Given the description of an element on the screen output the (x, y) to click on. 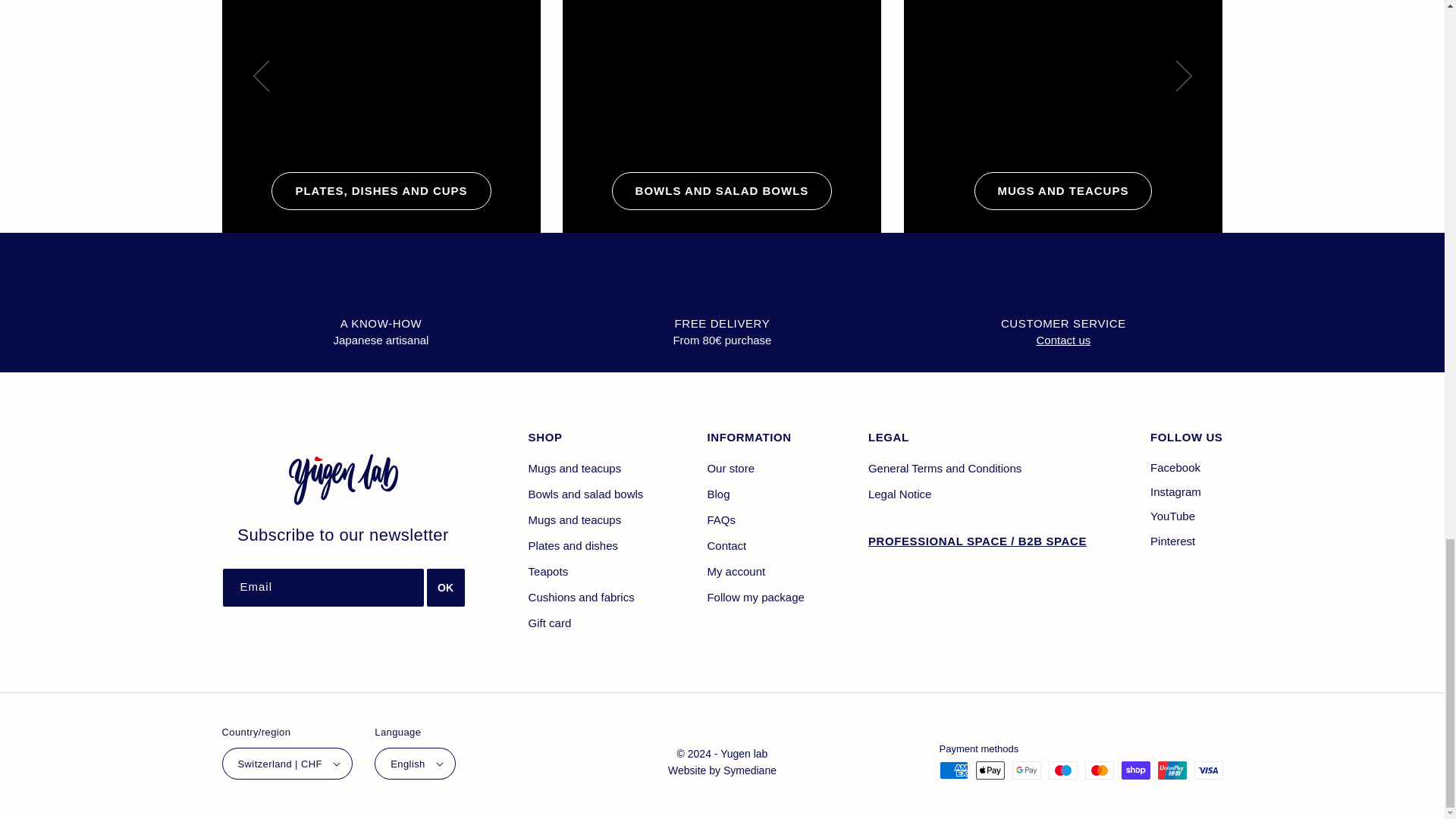
Contact (1063, 339)
